Given the description of an element on the screen output the (x, y) to click on. 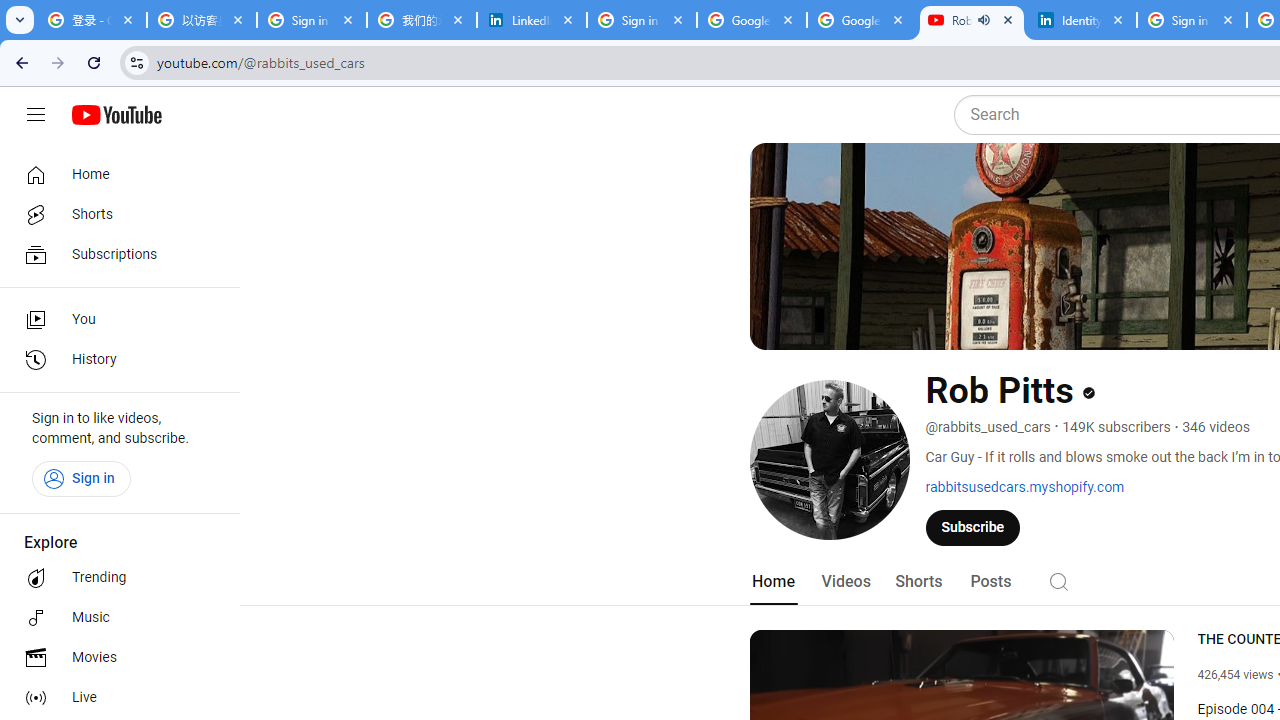
History (113, 359)
Sign in - Google Accounts (1191, 20)
Videos (845, 581)
LinkedIn Privacy Policy (532, 20)
Movies (113, 657)
Music (113, 617)
Posts (990, 581)
